Given the description of an element on the screen output the (x, y) to click on. 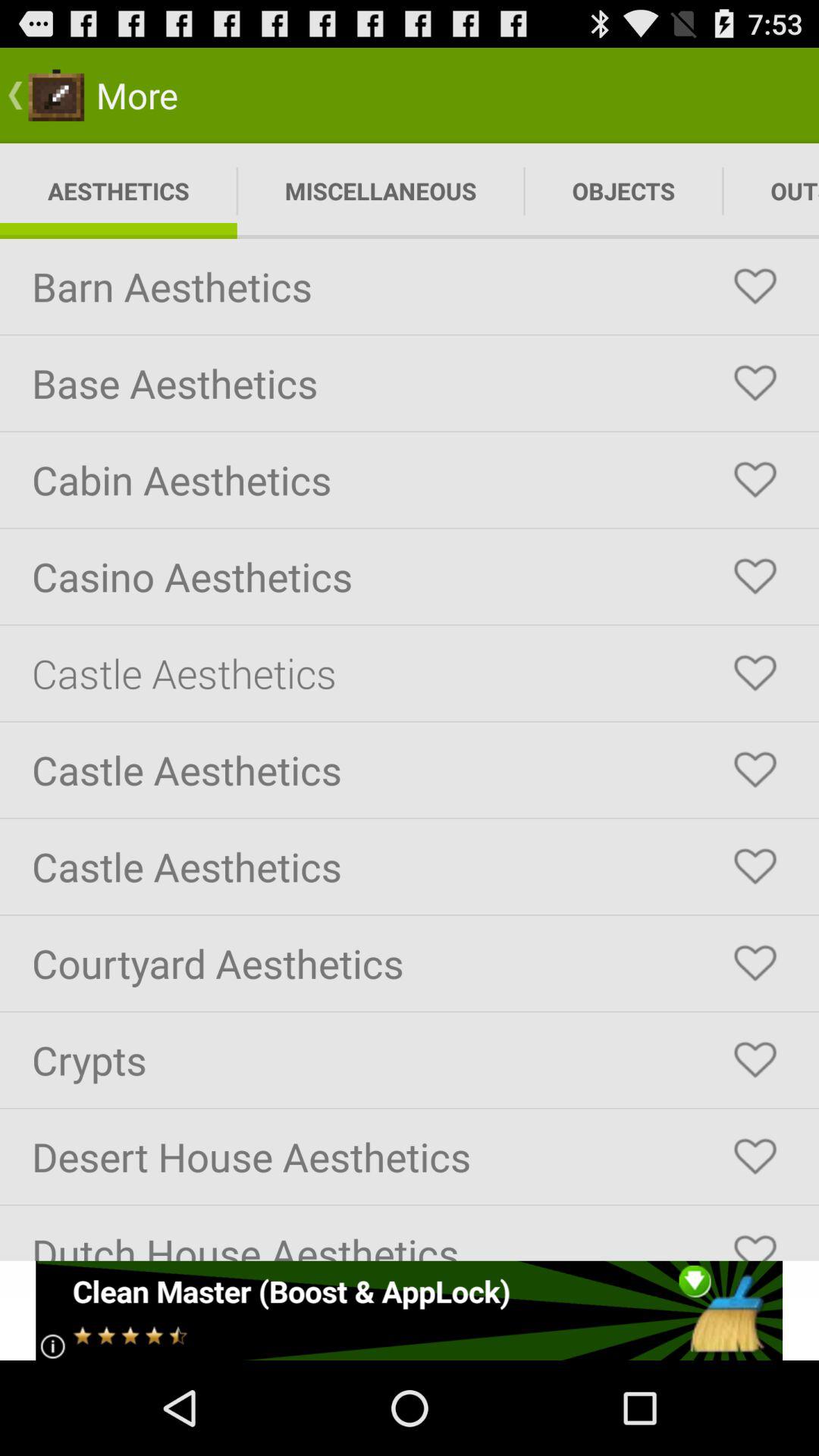
favorite option (755, 1156)
